Given the description of an element on the screen output the (x, y) to click on. 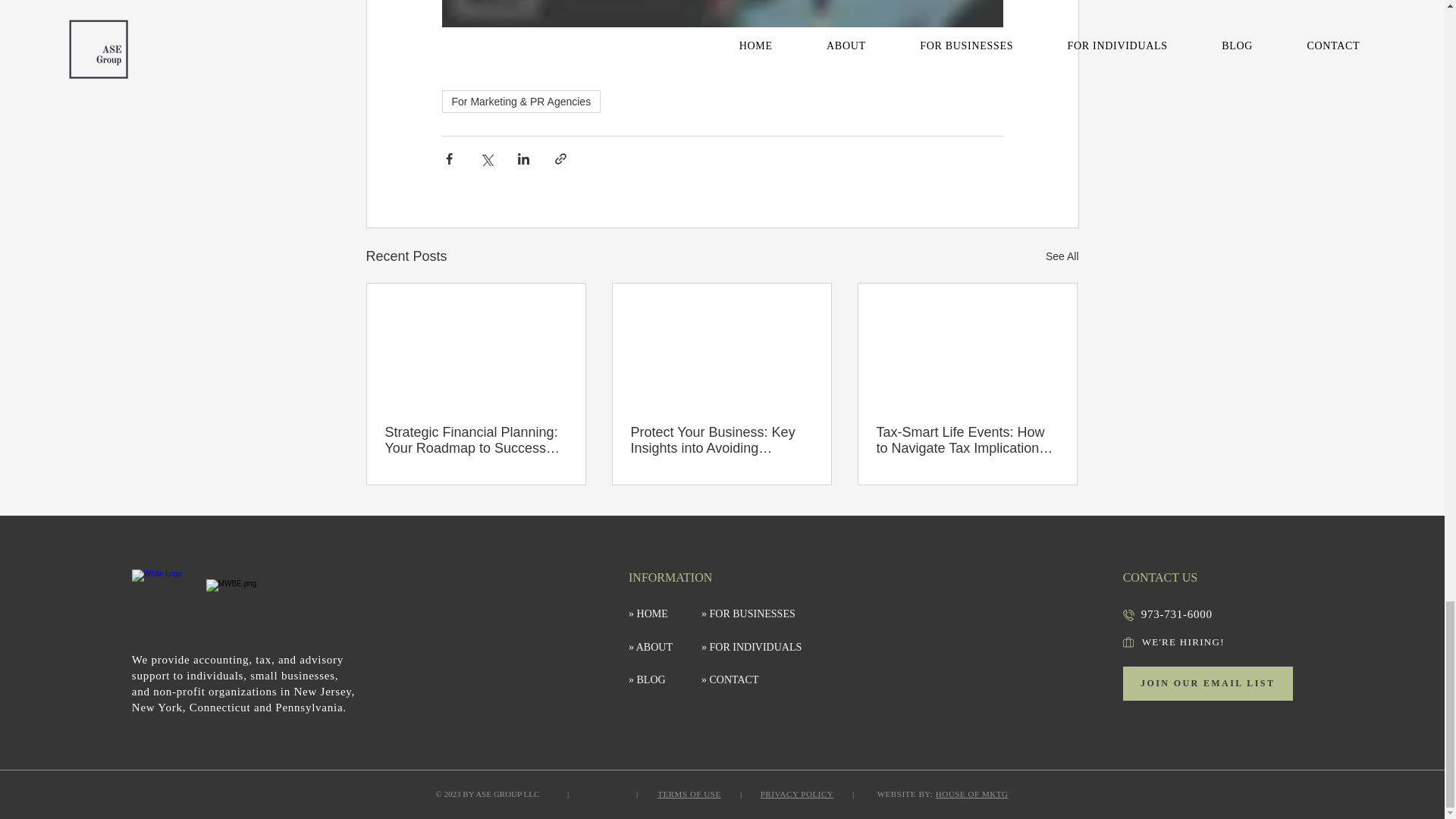
JOIN OUR EMAIL LIST (1207, 683)
See All (1061, 256)
973-731-6000 (1176, 613)
WE'RE HIRING! (1201, 642)
1.png (161, 598)
